Given the description of an element on the screen output the (x, y) to click on. 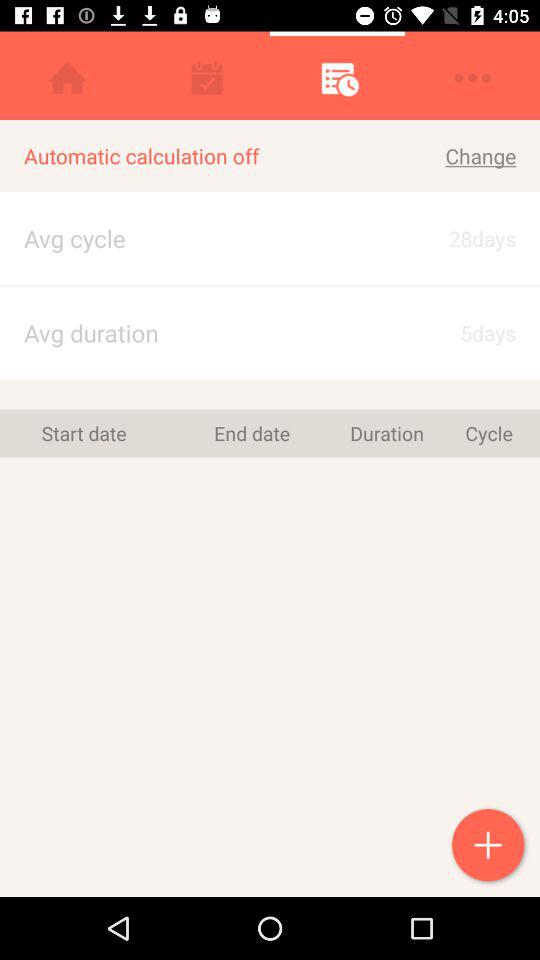
select the icon next to the automatic calculation off app (463, 238)
